Given the description of an element on the screen output the (x, y) to click on. 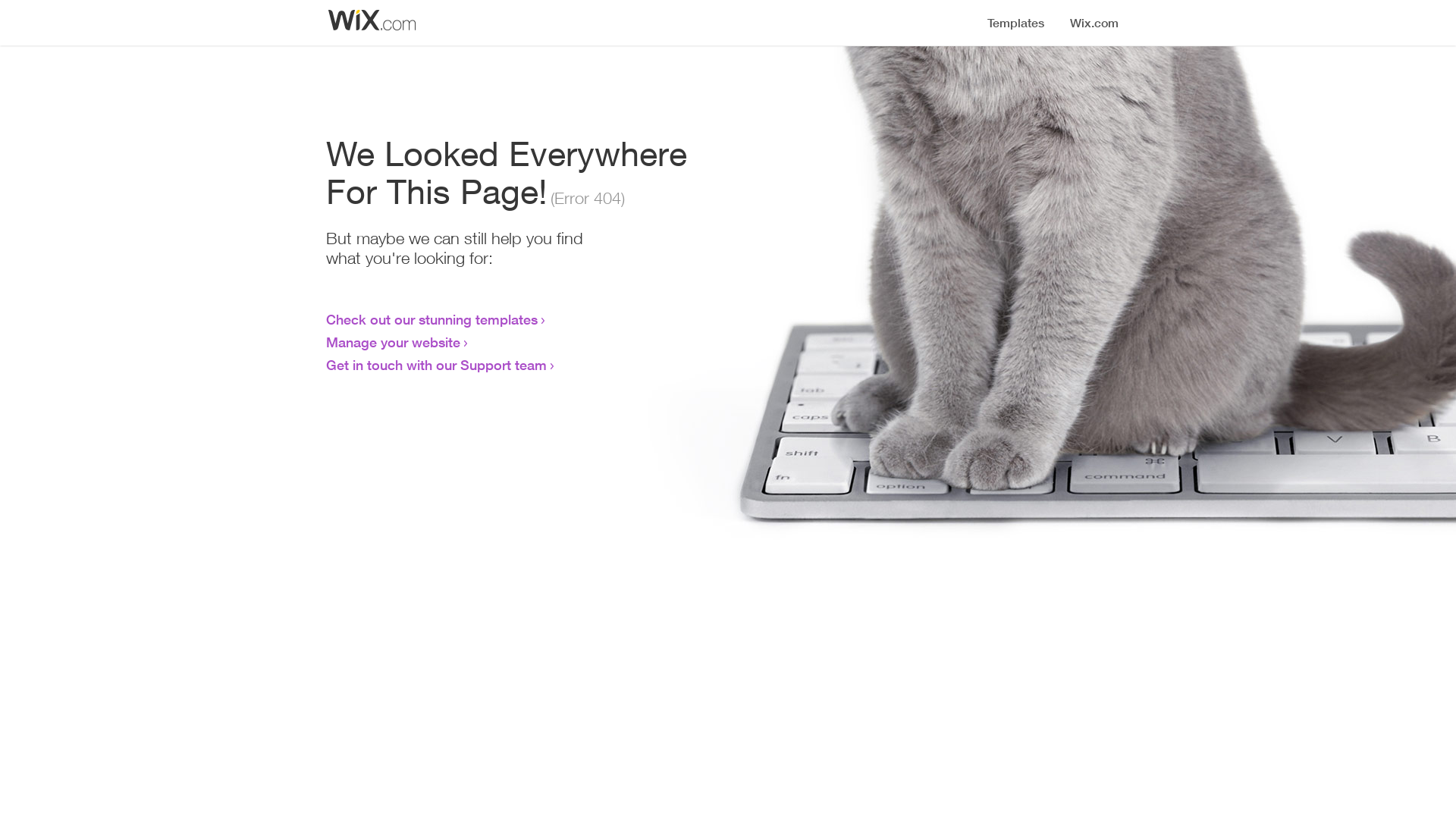
Get in touch with our Support team Element type: text (436, 364)
Manage your website Element type: text (393, 341)
Check out our stunning templates Element type: text (431, 318)
